Given the description of an element on the screen output the (x, y) to click on. 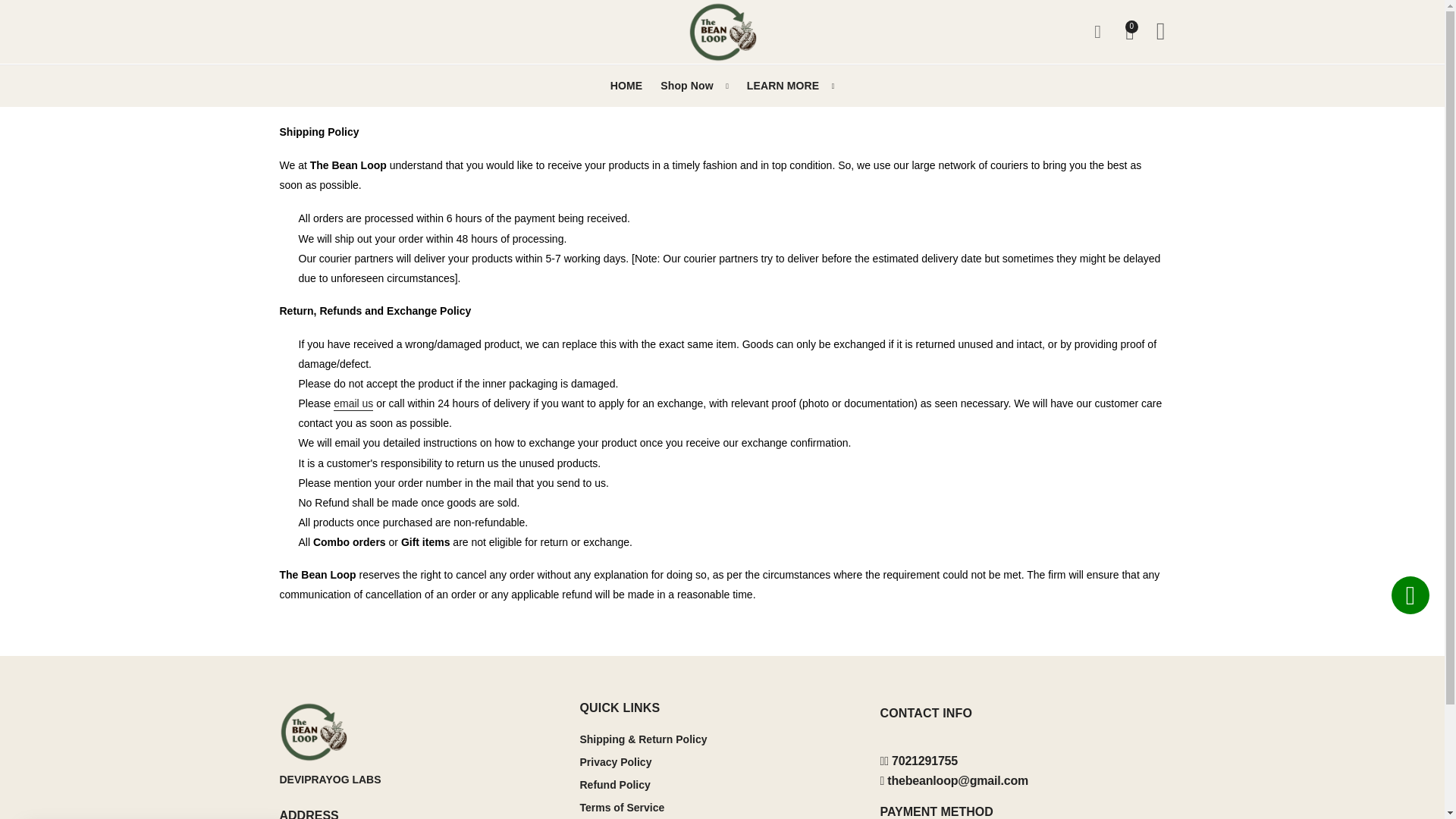
Refund Policy (614, 784)
footer logo (421, 731)
HOME (626, 86)
email us (352, 404)
Terms of Service (621, 807)
Privacy Policy (614, 761)
7021291755 (918, 760)
HOME (626, 86)
Shop Now (694, 86)
LEARN MORE (791, 86)
